Given the description of an element on the screen output the (x, y) to click on. 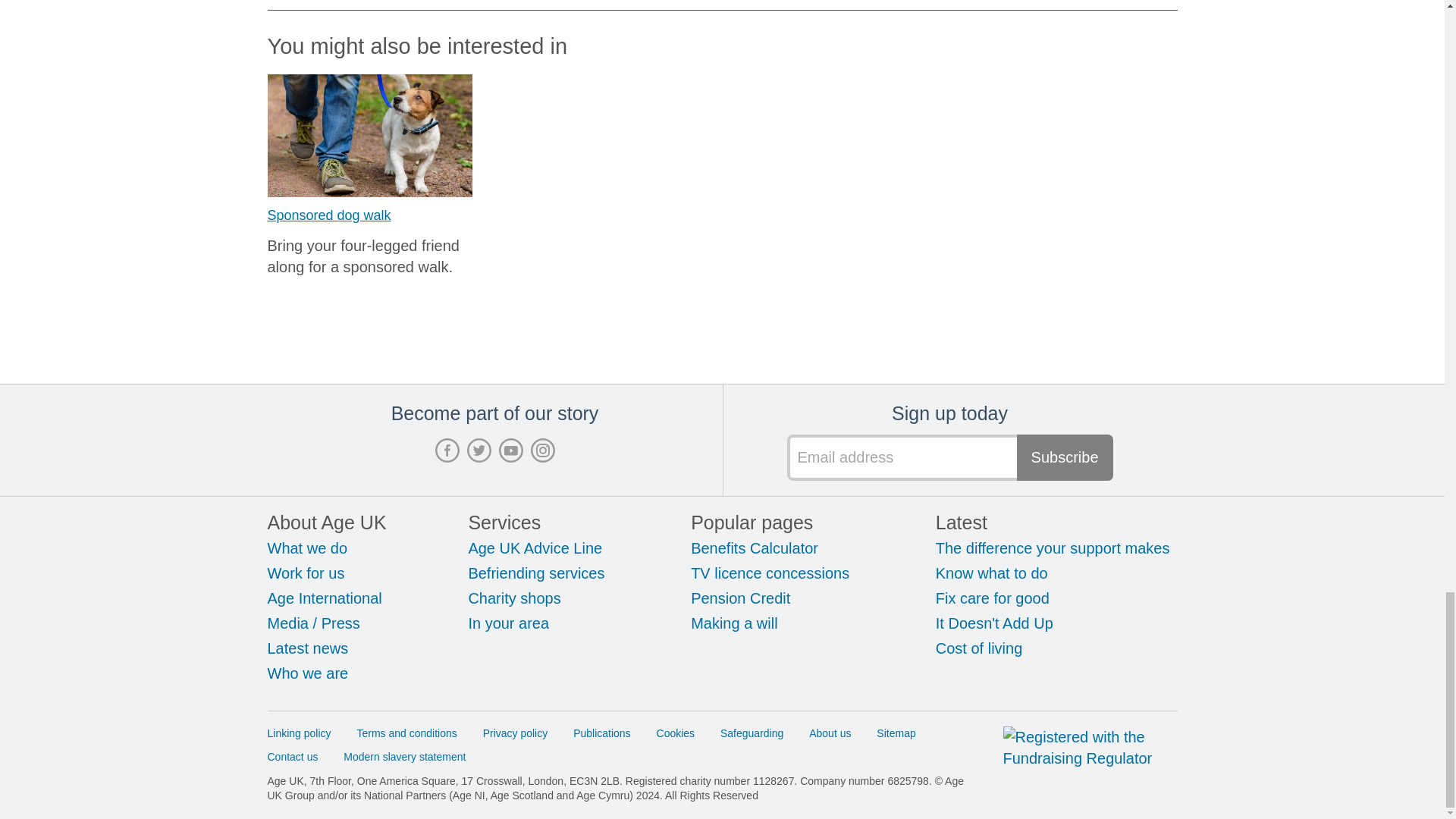
Facebook (447, 449)
Subscribe (1064, 457)
Twitter (479, 449)
Instagram (542, 449)
Youtube (510, 449)
